Given the description of an element on the screen output the (x, y) to click on. 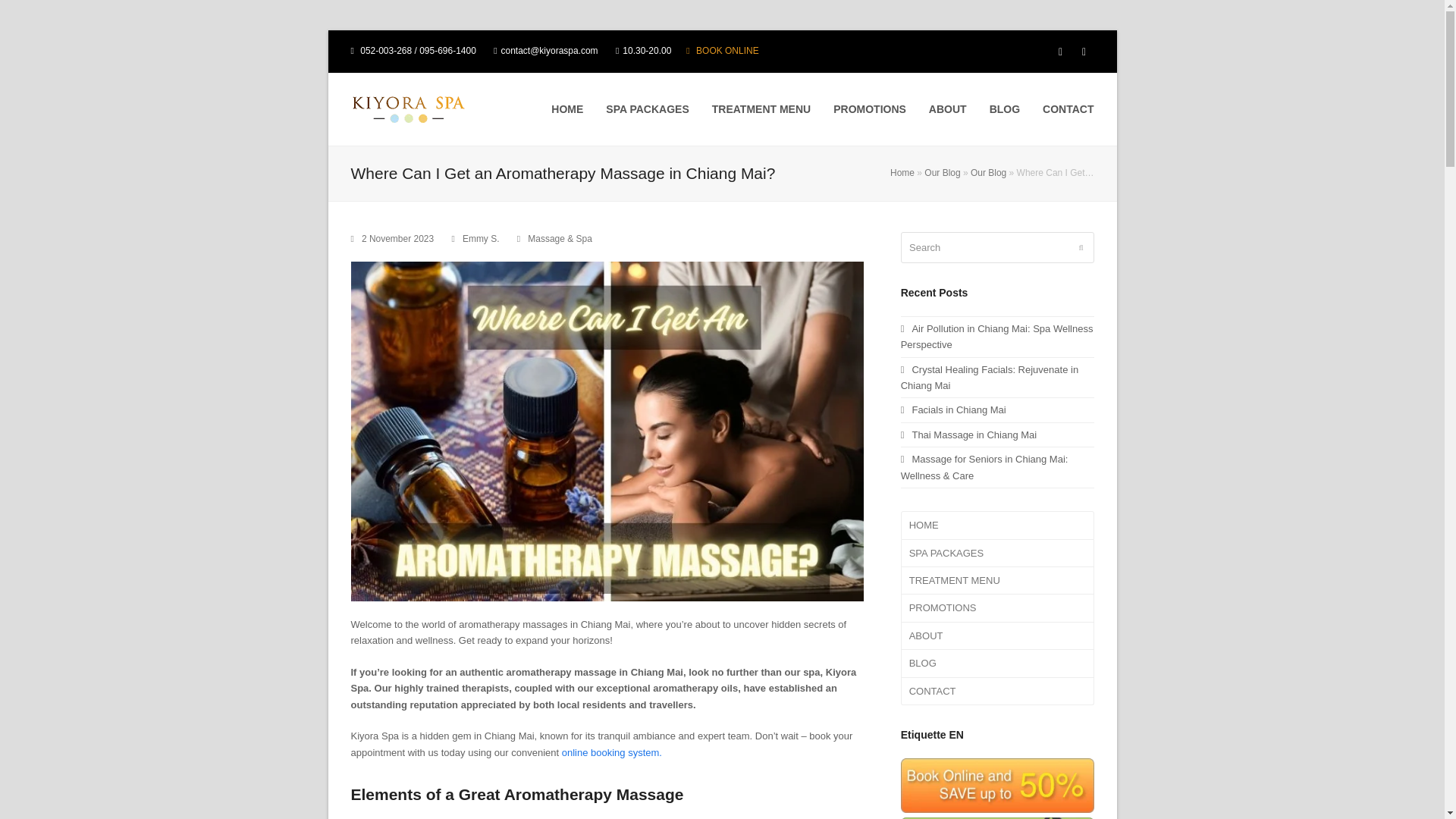
Contact us (1067, 109)
About Kiyora Spa in Chiang Mai (947, 109)
Enlarge Image (606, 430)
Kiyora Spa in Chiang Mai (997, 524)
PROMOTIONS (869, 109)
online booking system. (612, 752)
Our Spa Packages (997, 553)
HOME (567, 109)
Our Spa Treatment Menu (761, 109)
SPA PACKAGES (647, 109)
CONTACT (1067, 109)
Instagram (1083, 51)
ABOUT (947, 109)
Facebook (1060, 51)
Instagram (1083, 51)
